Given the description of an element on the screen output the (x, y) to click on. 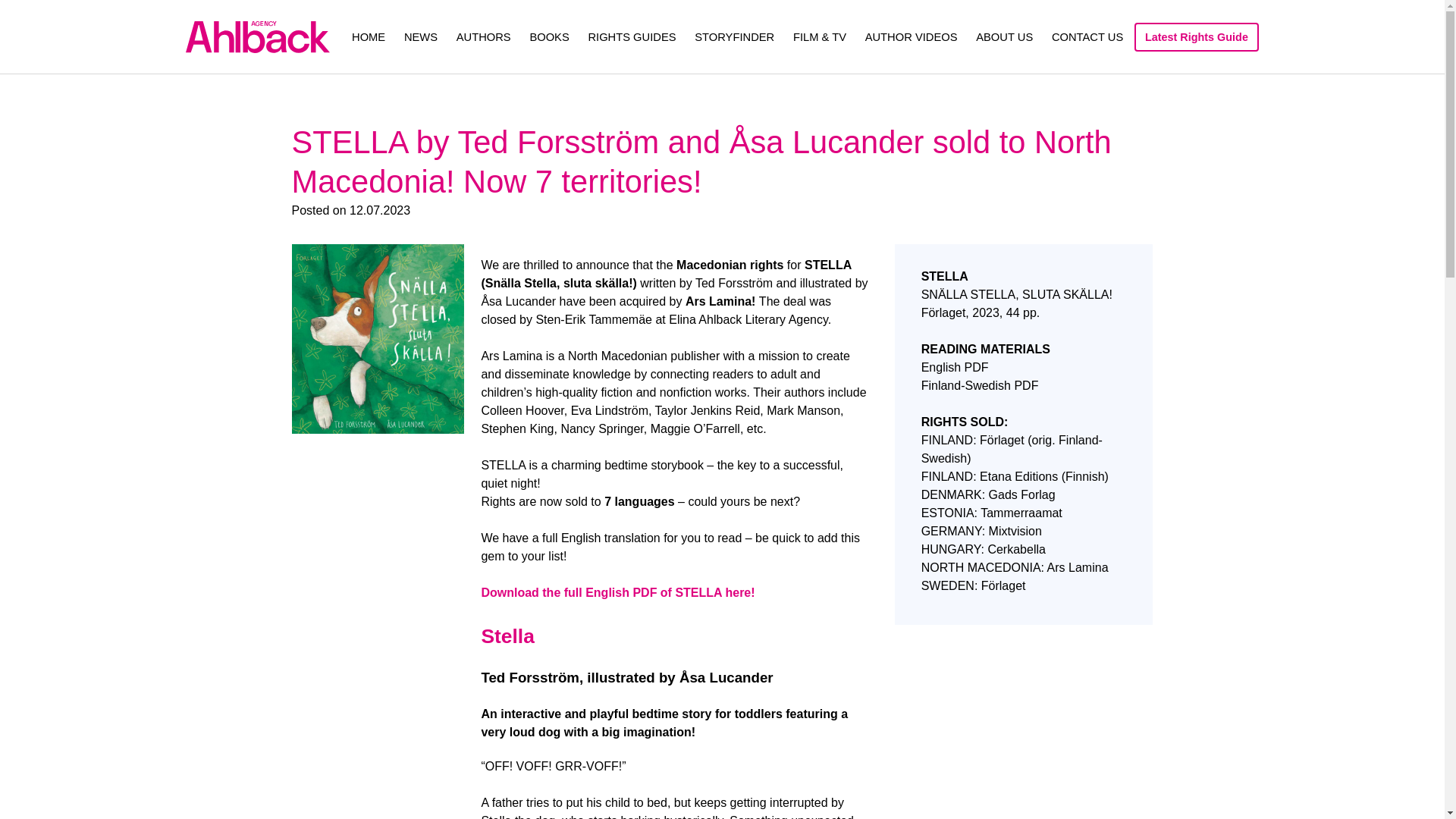
BOOKS (549, 36)
Latest Rights Guide (1196, 36)
AUTHOR VIDEOS (911, 36)
NEWS (421, 36)
AUTHORS (484, 36)
Download the full English PDF of STELLA here! (617, 592)
RIGHTS GUIDES (631, 36)
HOME (368, 36)
STORYFINDER (734, 36)
CONTACT US (1086, 36)
ABOUT US (1003, 36)
